Given the description of an element on the screen output the (x, y) to click on. 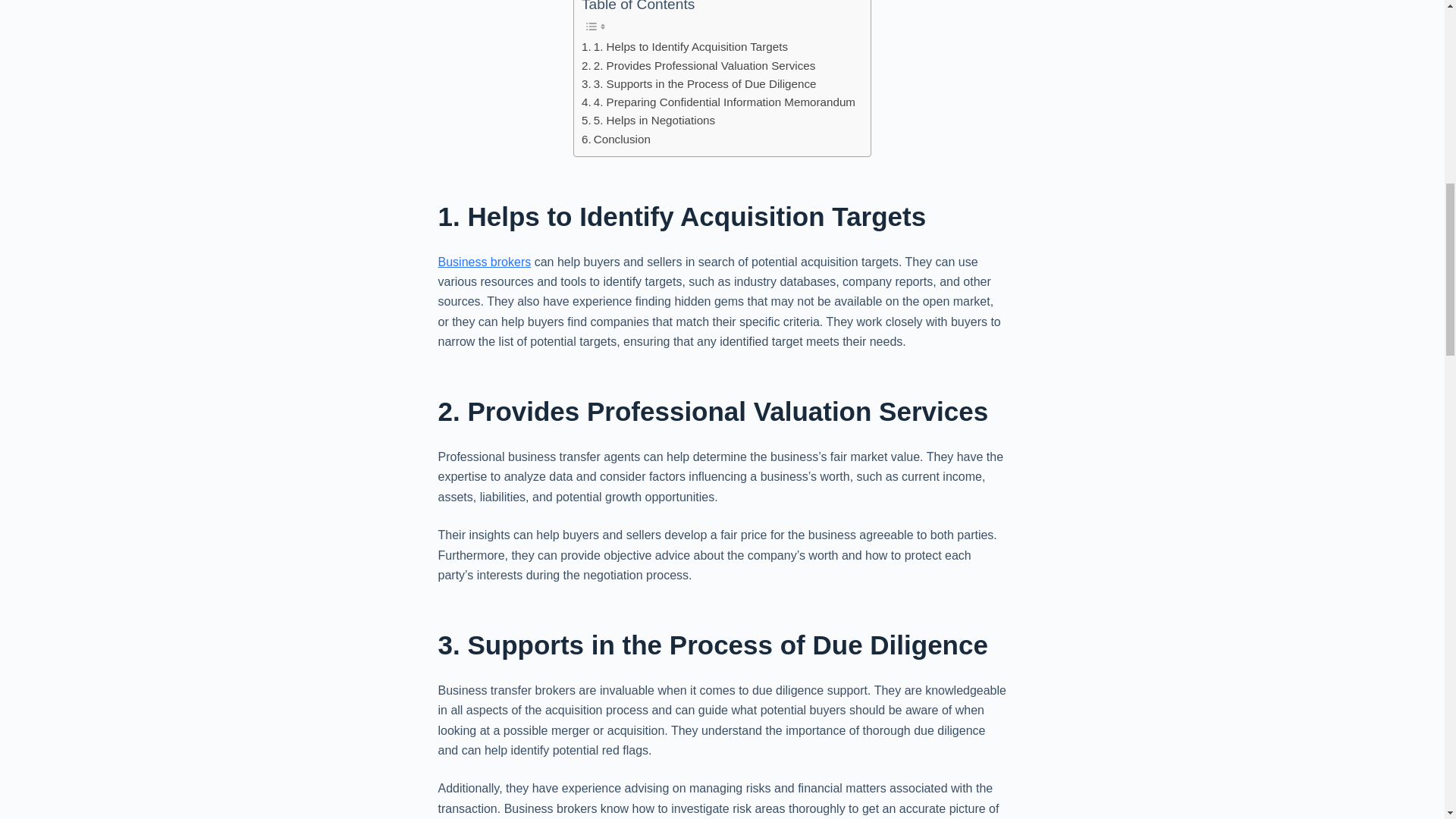
5. Helps in Negotiations (647, 120)
4. Preparing Confidential Information Memorandum (718, 102)
Business brokers (484, 261)
Conclusion (615, 139)
3. Supports in the Process of Due Diligence (698, 84)
2. Provides Professional Valuation Services (697, 65)
1. Helps to Identify Acquisition Targets (683, 46)
Conclusion (615, 139)
3. Supports in the Process of Due Diligence (698, 84)
1. Helps to Identify Acquisition Targets (683, 46)
2. Provides Professional Valuation Services (697, 65)
4. Preparing Confidential Information Memorandum (718, 102)
5. Helps in Negotiations (647, 120)
